Given the description of an element on the screen output the (x, y) to click on. 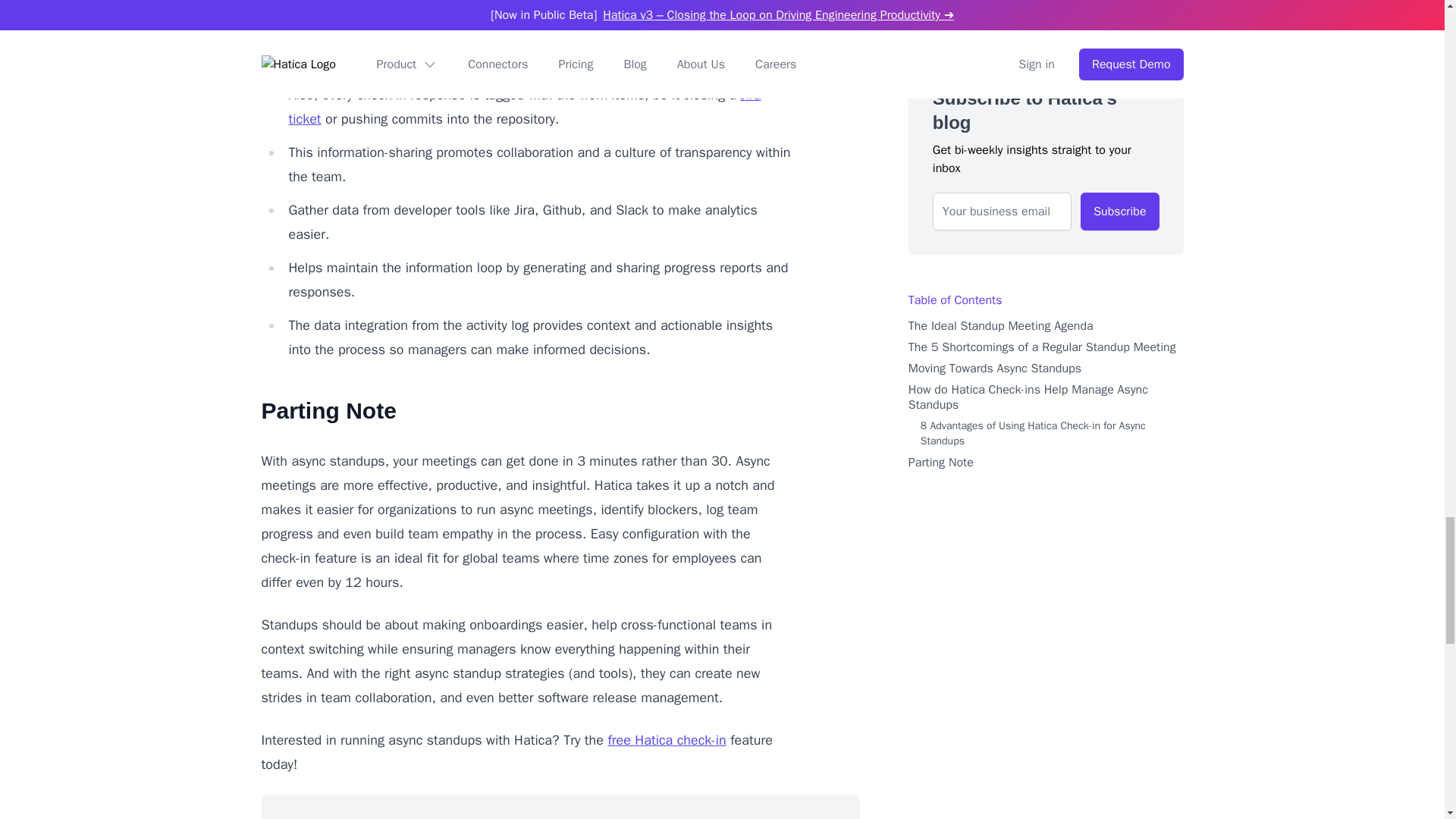
Jira ticket (524, 106)
free Hatica check-in (666, 740)
remote work visibility and transparency (502, 6)
